Given the description of an element on the screen output the (x, y) to click on. 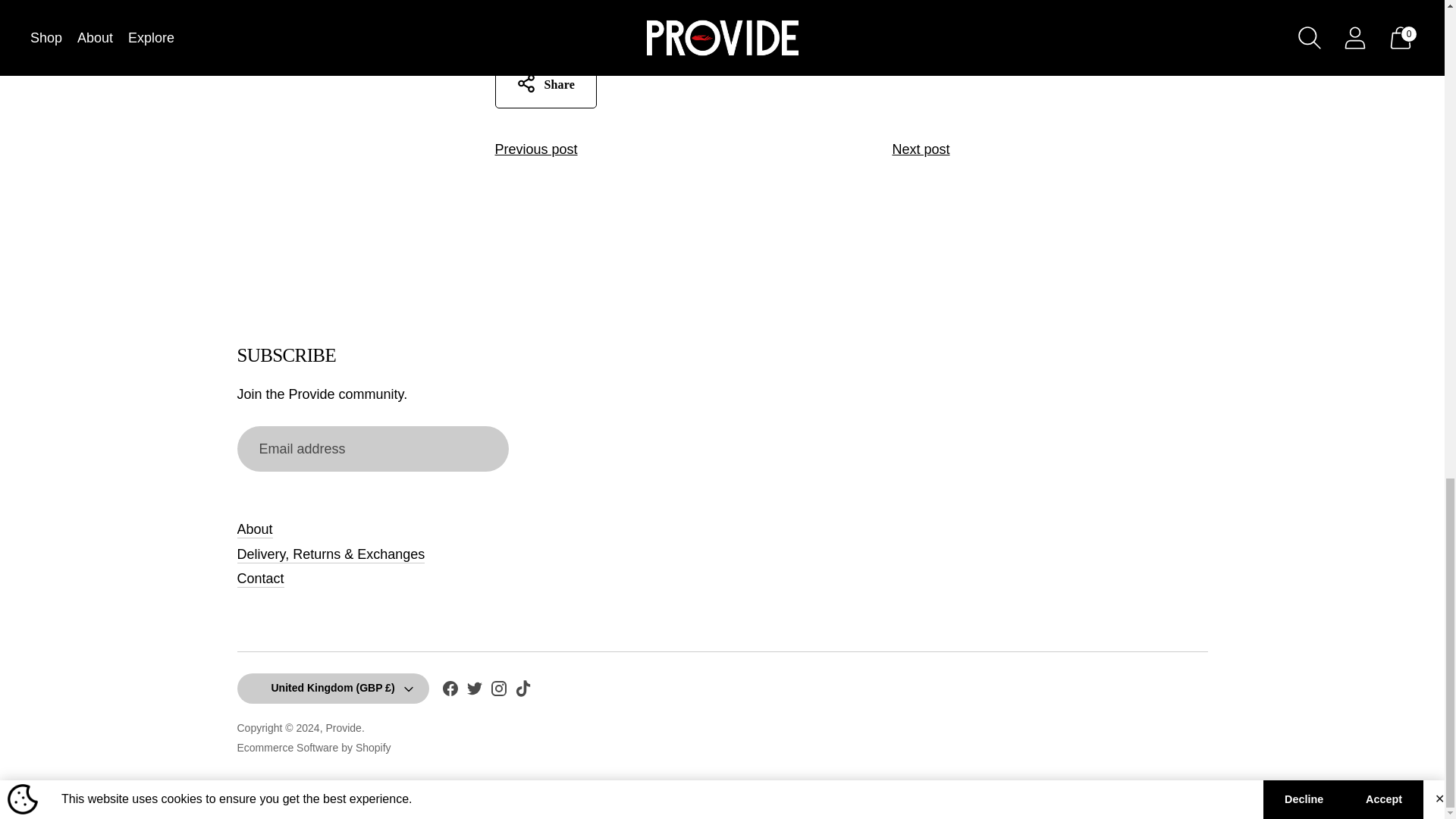
Show articles tagged new in store (568, 20)
